Given the description of an element on the screen output the (x, y) to click on. 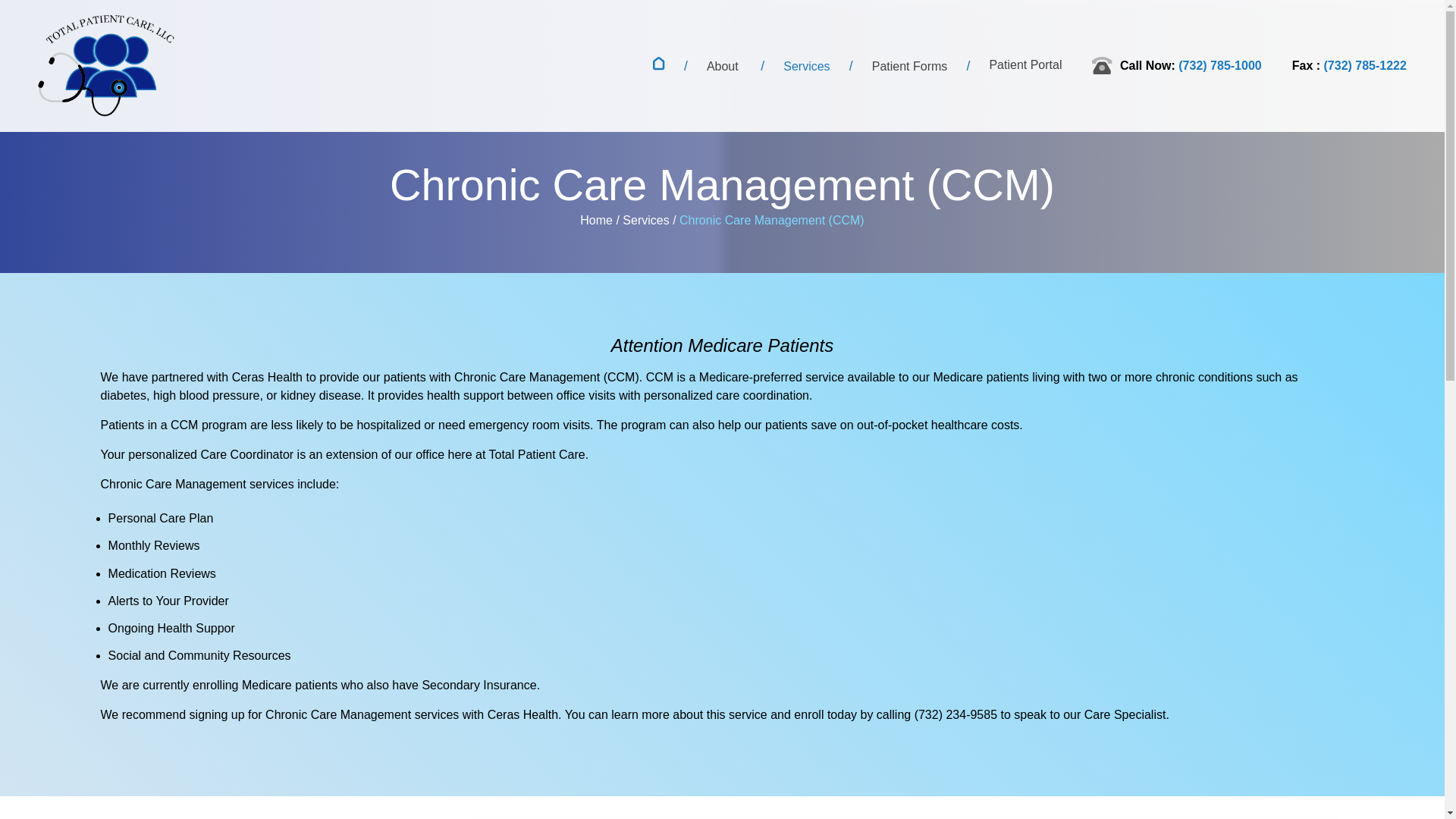
Services (806, 65)
Patient Portal (1024, 64)
Services (645, 219)
About (722, 65)
Patient Forms (909, 65)
Home (595, 219)
